Given the description of an element on the screen output the (x, y) to click on. 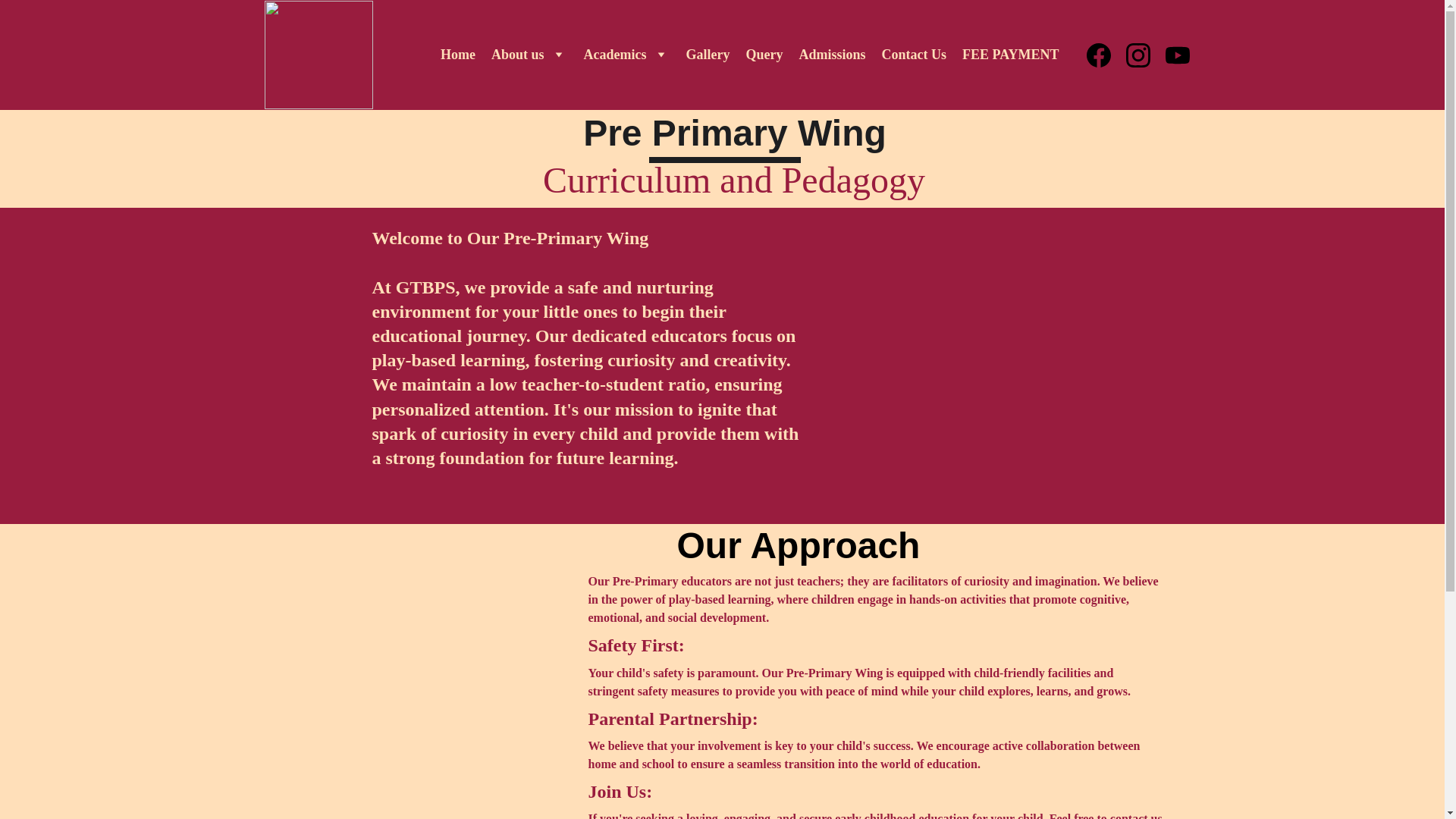
Query (764, 54)
Home (458, 54)
Admissions (830, 54)
Gallery (707, 54)
FEE PAYMENT (1010, 54)
